Given the description of an element on the screen output the (x, y) to click on. 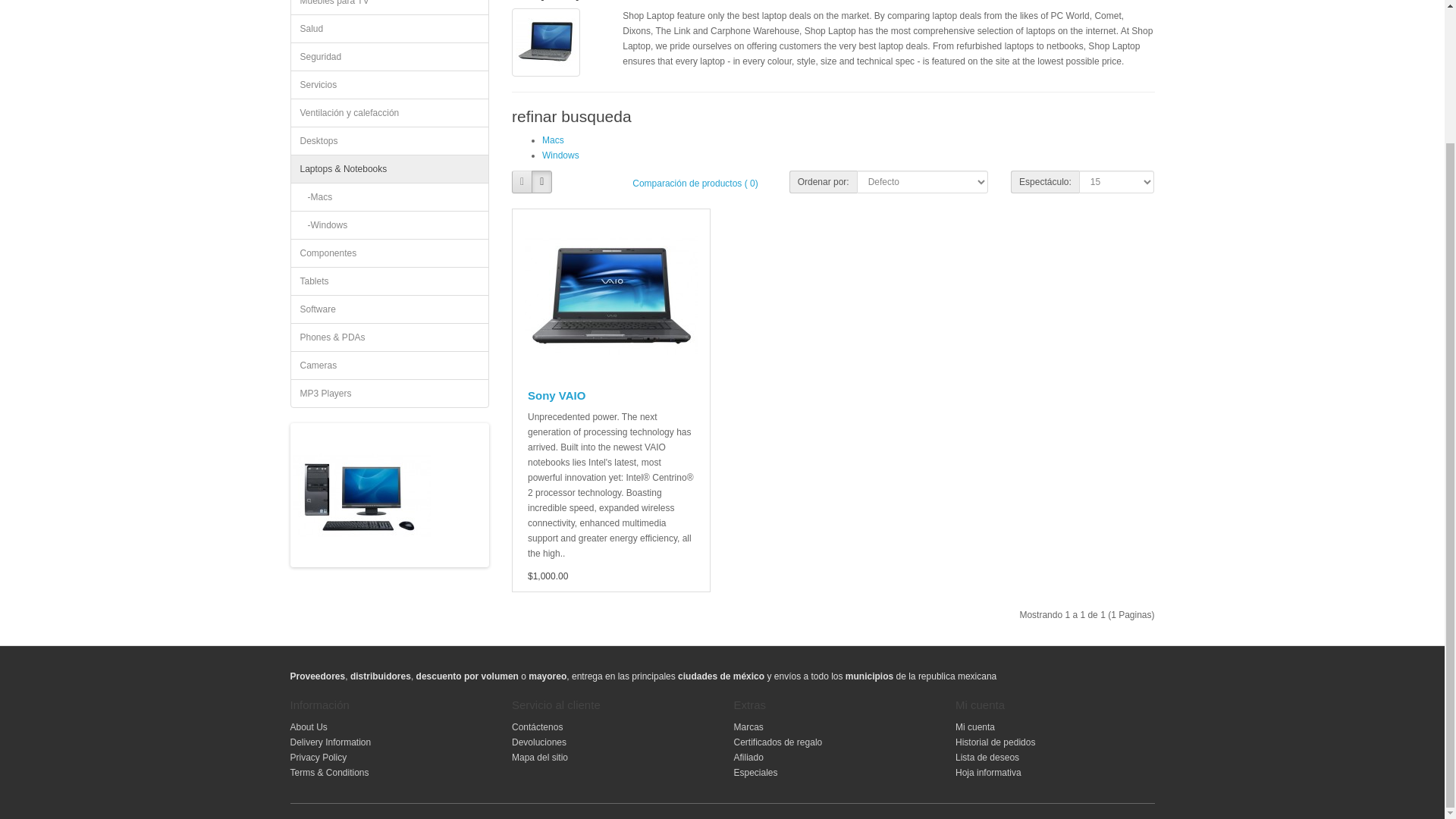
Desktops (389, 140)
Servicios (389, 84)
MP3 Players (389, 393)
Tablets (389, 280)
Muebles para TV (389, 7)
Seguridad (389, 56)
Salud (389, 28)
   -Macs (389, 196)
Macs (552, 140)
Sony VAIO (610, 295)
